Given the description of an element on the screen output the (x, y) to click on. 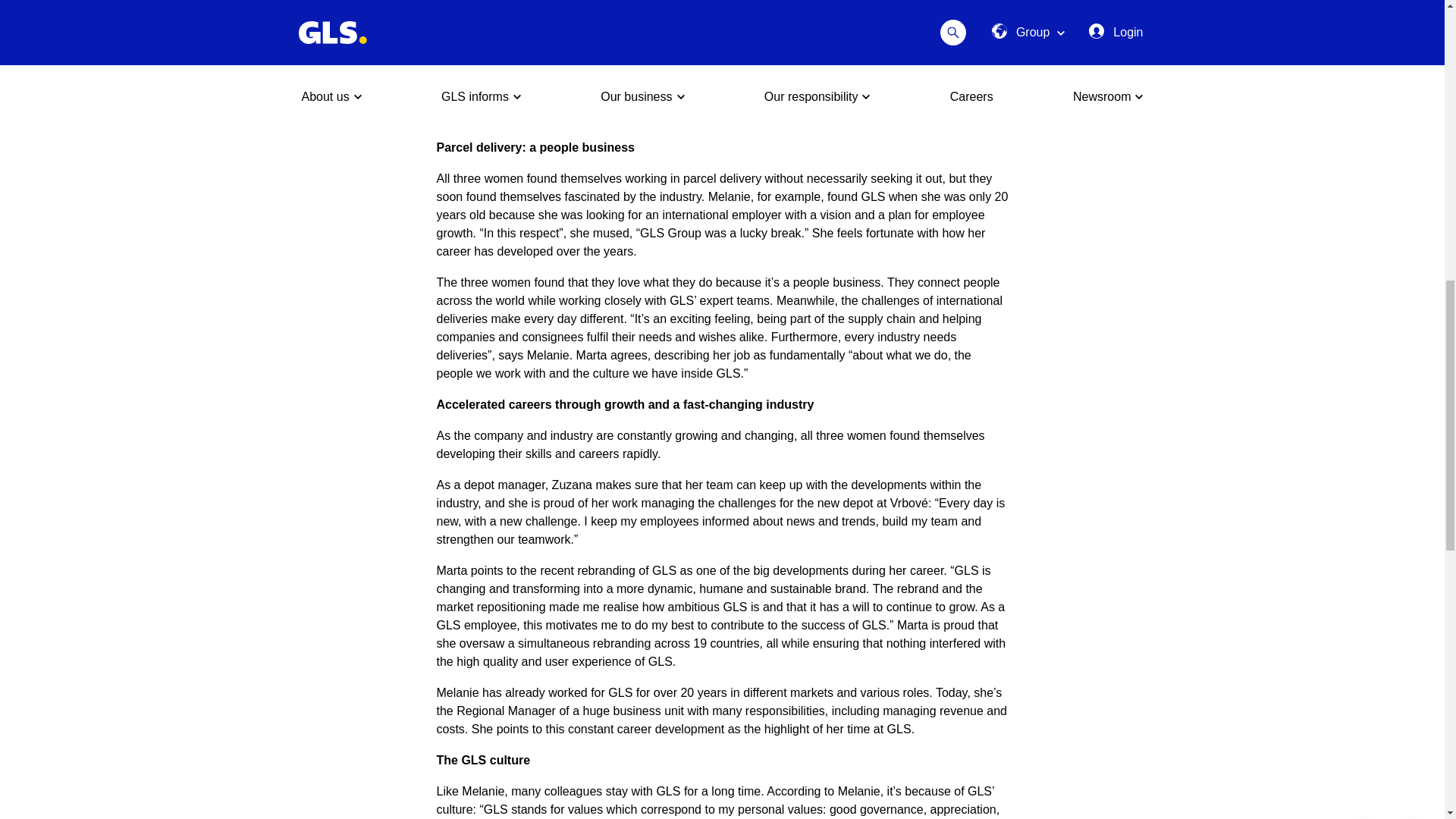
Cookie Settings (1364, 19)
